Given the description of an element on the screen output the (x, y) to click on. 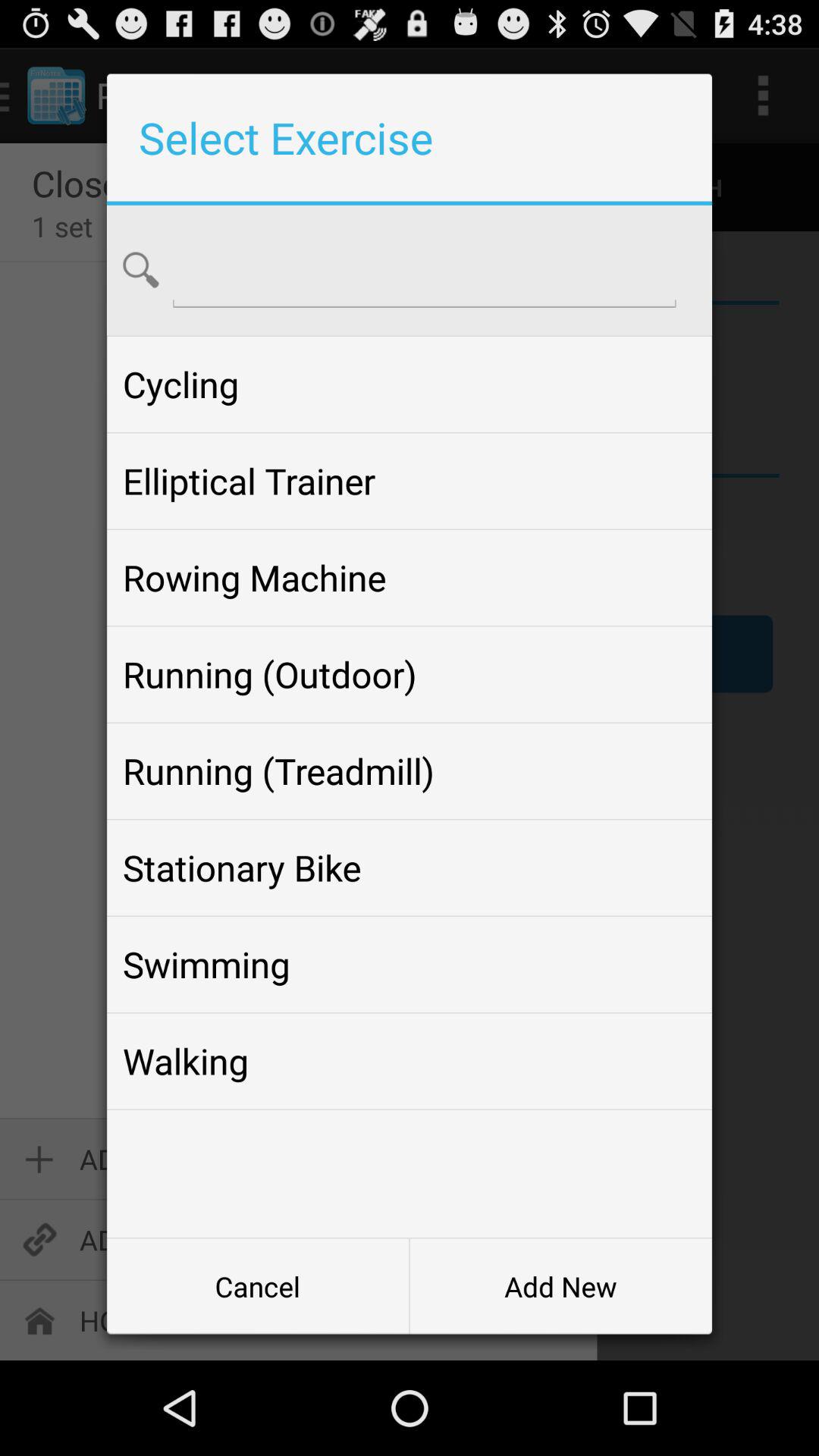
launch the icon above cancel button (409, 1061)
